Given the description of an element on the screen output the (x, y) to click on. 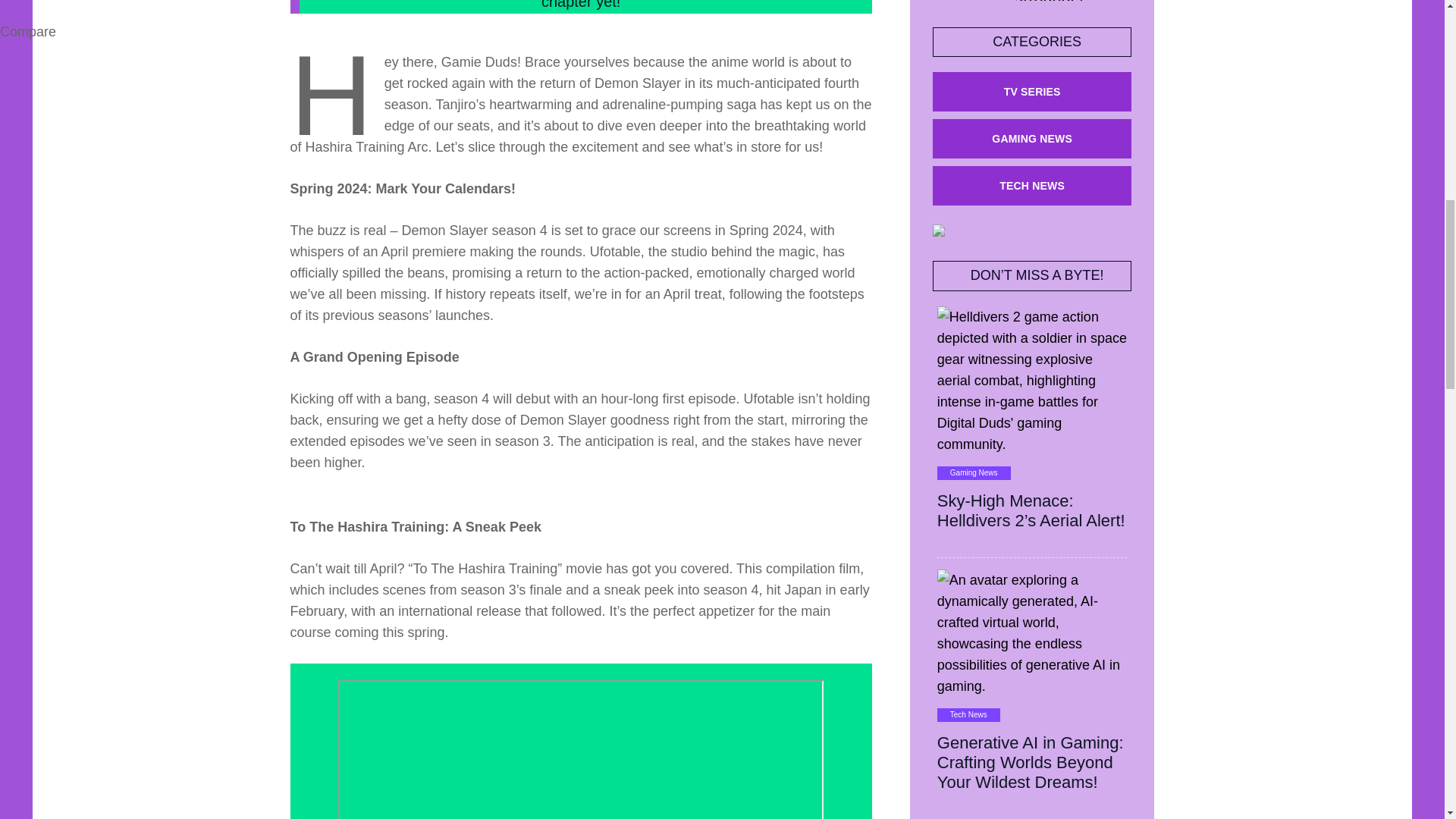
YouTube player (580, 749)
